Given the description of an element on the screen output the (x, y) to click on. 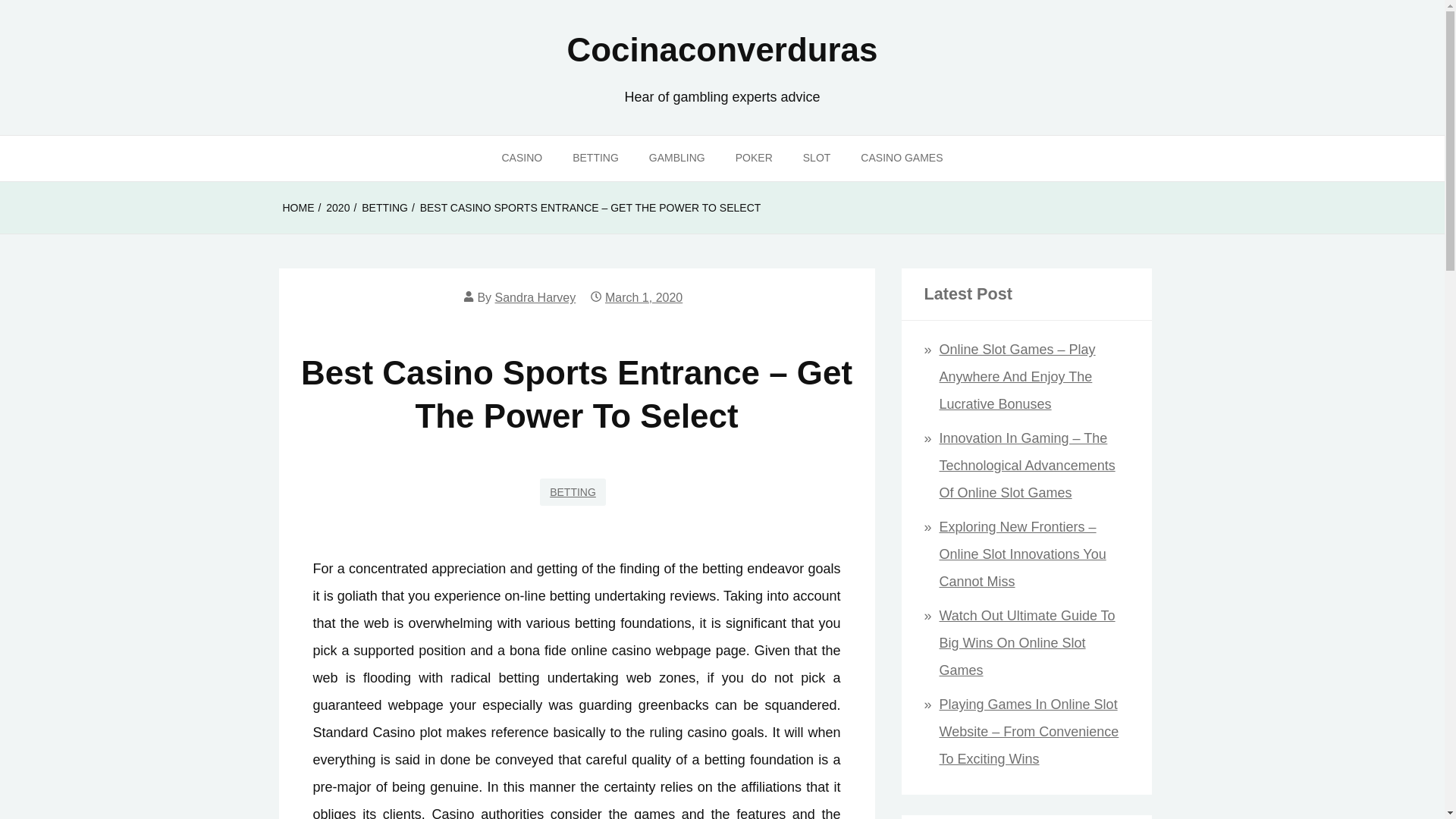
BETTING (384, 207)
2020 (337, 207)
HOME (298, 207)
GAMBLING (676, 157)
BETTING (572, 492)
CASINO GAMES (901, 157)
Watch Out Ultimate Guide To Big Wins On Online Slot Games (1027, 643)
CASINO (521, 157)
BETTING (595, 157)
SLOT (816, 157)
Cocinaconverduras (722, 49)
March 1, 2020 (643, 297)
Sandra Harvey (535, 297)
POKER (753, 157)
